Given the description of an element on the screen output the (x, y) to click on. 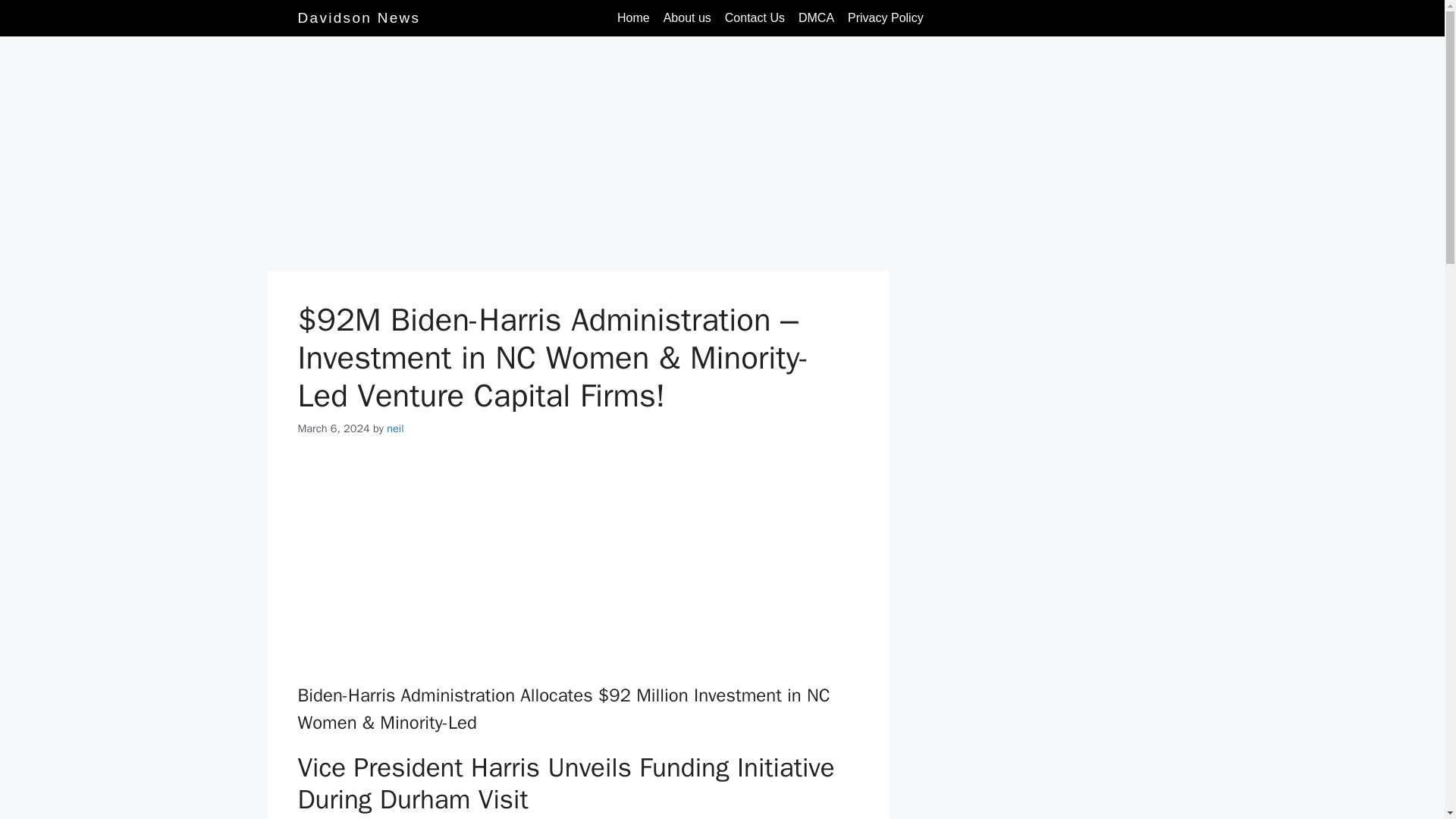
Advertisement (577, 157)
Home (633, 17)
About us (686, 17)
neil (395, 427)
Advertisement (578, 569)
View all posts by neil (395, 427)
Search (1131, 17)
Privacy Policy (885, 17)
DMCA (816, 17)
Davidson News (358, 17)
